Given the description of an element on the screen output the (x, y) to click on. 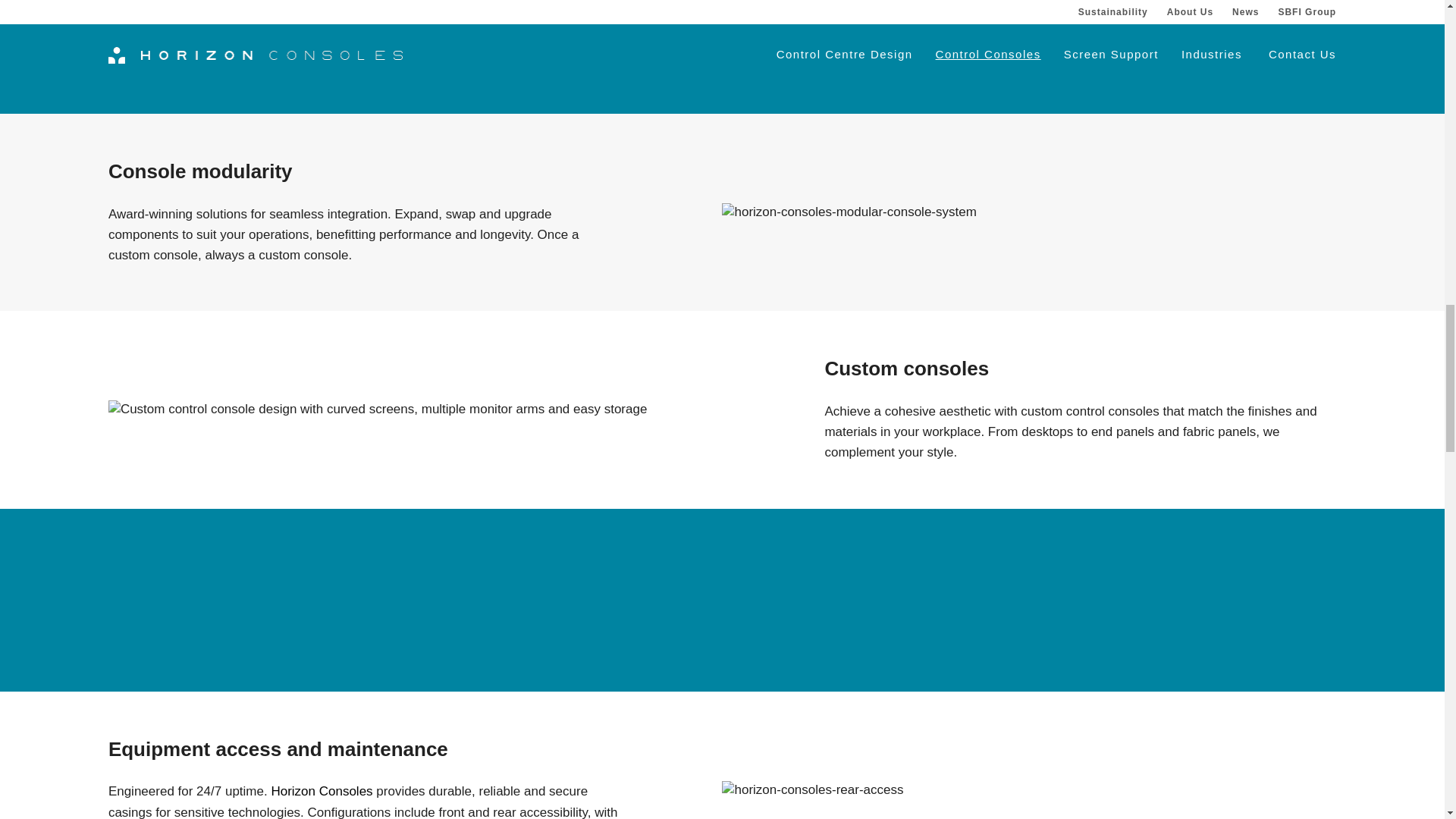
CUSTOM CONSOLE (377, 409)
horizon-consoles-rear-access (812, 790)
Horizon Consoles (321, 790)
horizon-consoles-modular-console-system (848, 212)
